Given the description of an element on the screen output the (x, y) to click on. 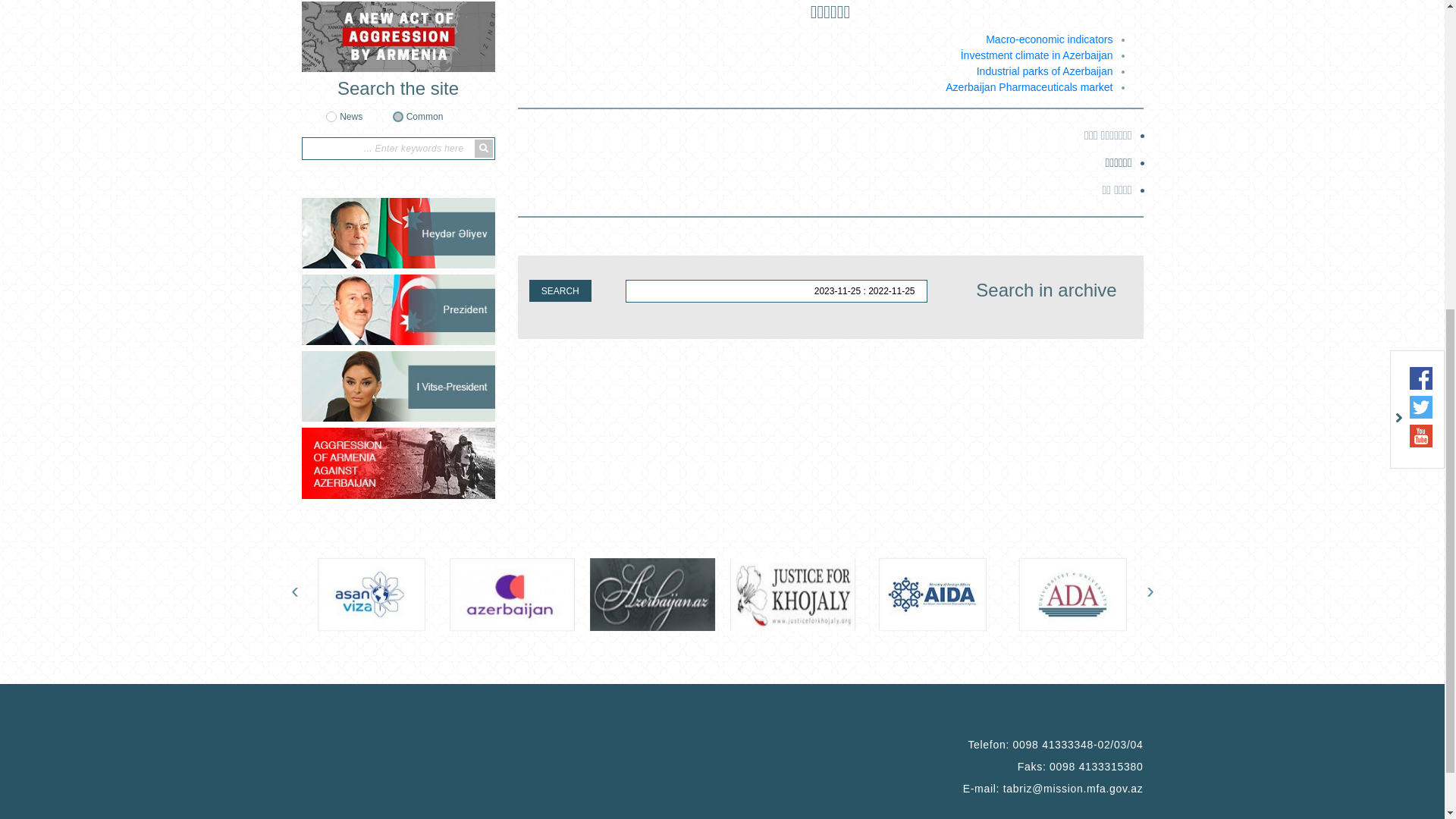
EN Element type: text (311, 103)
IR Element type: text (333, 103)
AZ Element type: text (356, 103)
Macro-economic indicators  Element type: text (1047, 565)
Azerbaijan Pharmaceuticals market Element type: text (1028, 613)
Industrial parks of Azerbaijan Element type: text (1044, 597)
